Given the description of an element on the screen output the (x, y) to click on. 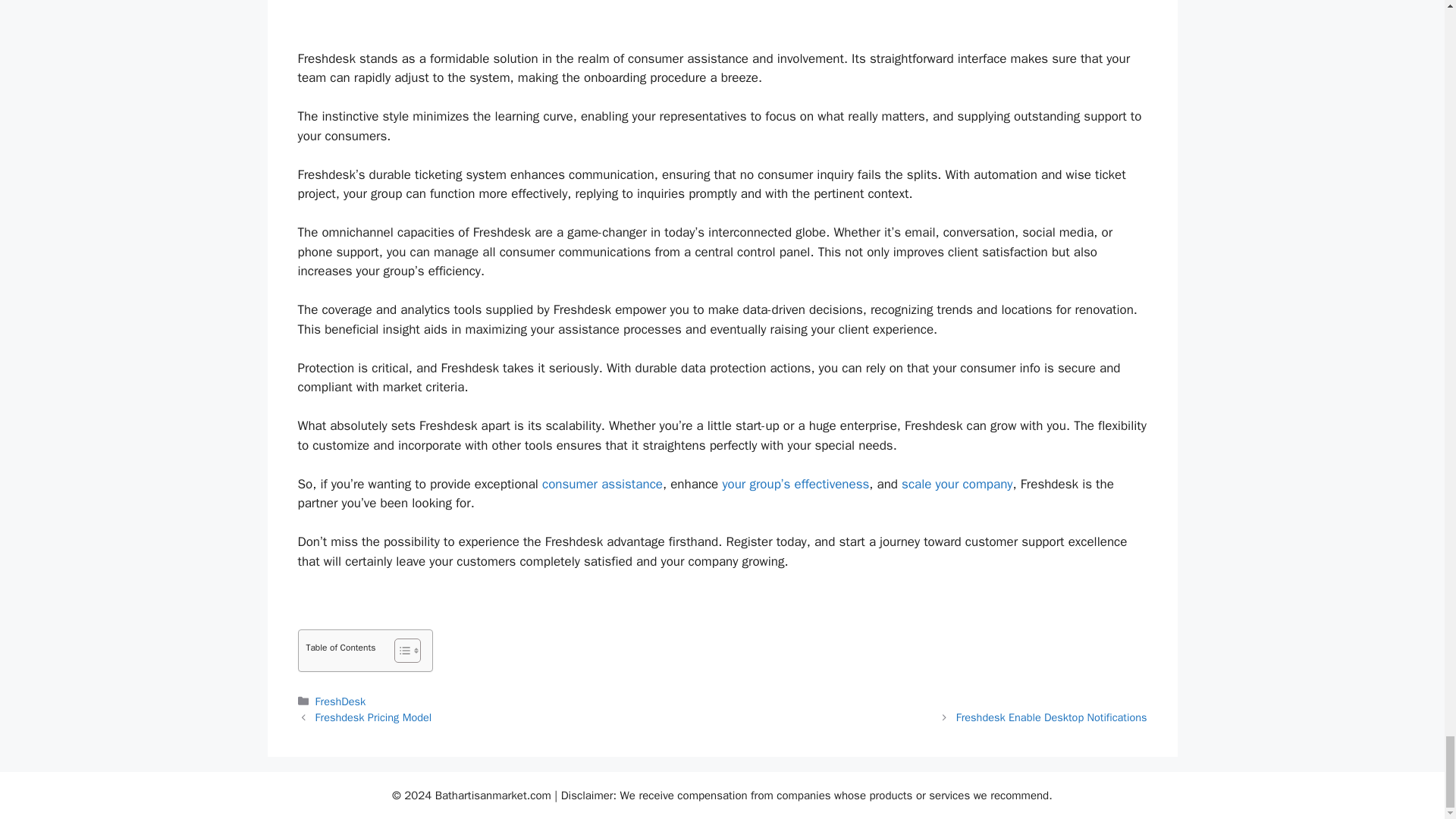
scale your company (956, 483)
Freshdesk Pricing Model (373, 716)
Freshdesk Enable Desktop Notifications (1051, 716)
consumer assistance (601, 483)
FreshDesk (340, 701)
